Given the description of an element on the screen output the (x, y) to click on. 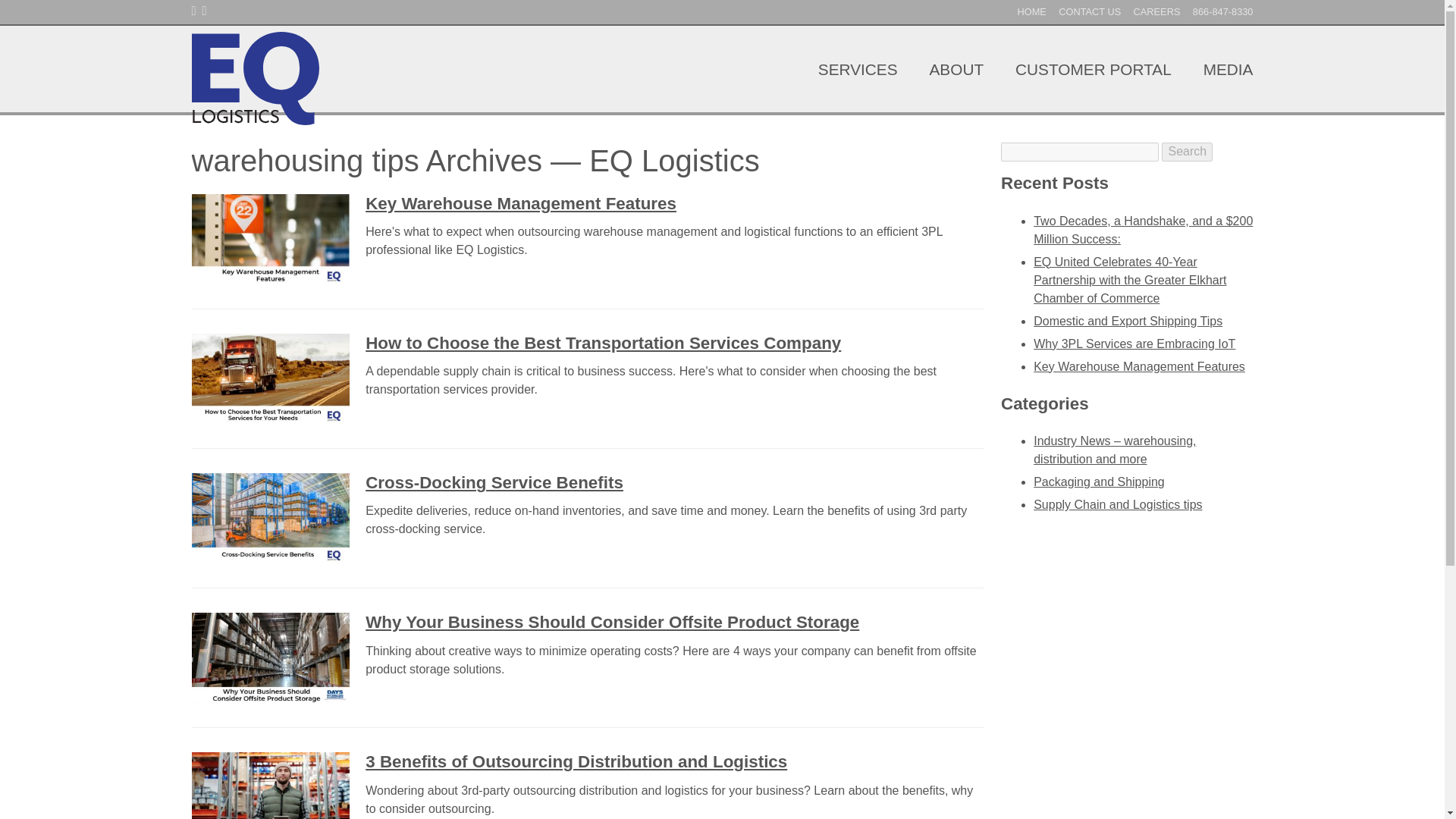
3 Benefits of Outsourcing Distribution and Logistics (576, 761)
Search (1186, 151)
Cross-Docking Service Benefits (494, 482)
866-847-8330 (1222, 11)
Key Warehouse Management Features (521, 203)
Search (1186, 151)
How to Choose the Best Transportation Services Company (603, 342)
ABOUT (956, 68)
SERVICES (857, 68)
CONTACT US (1089, 11)
